Given the description of an element on the screen output the (x, y) to click on. 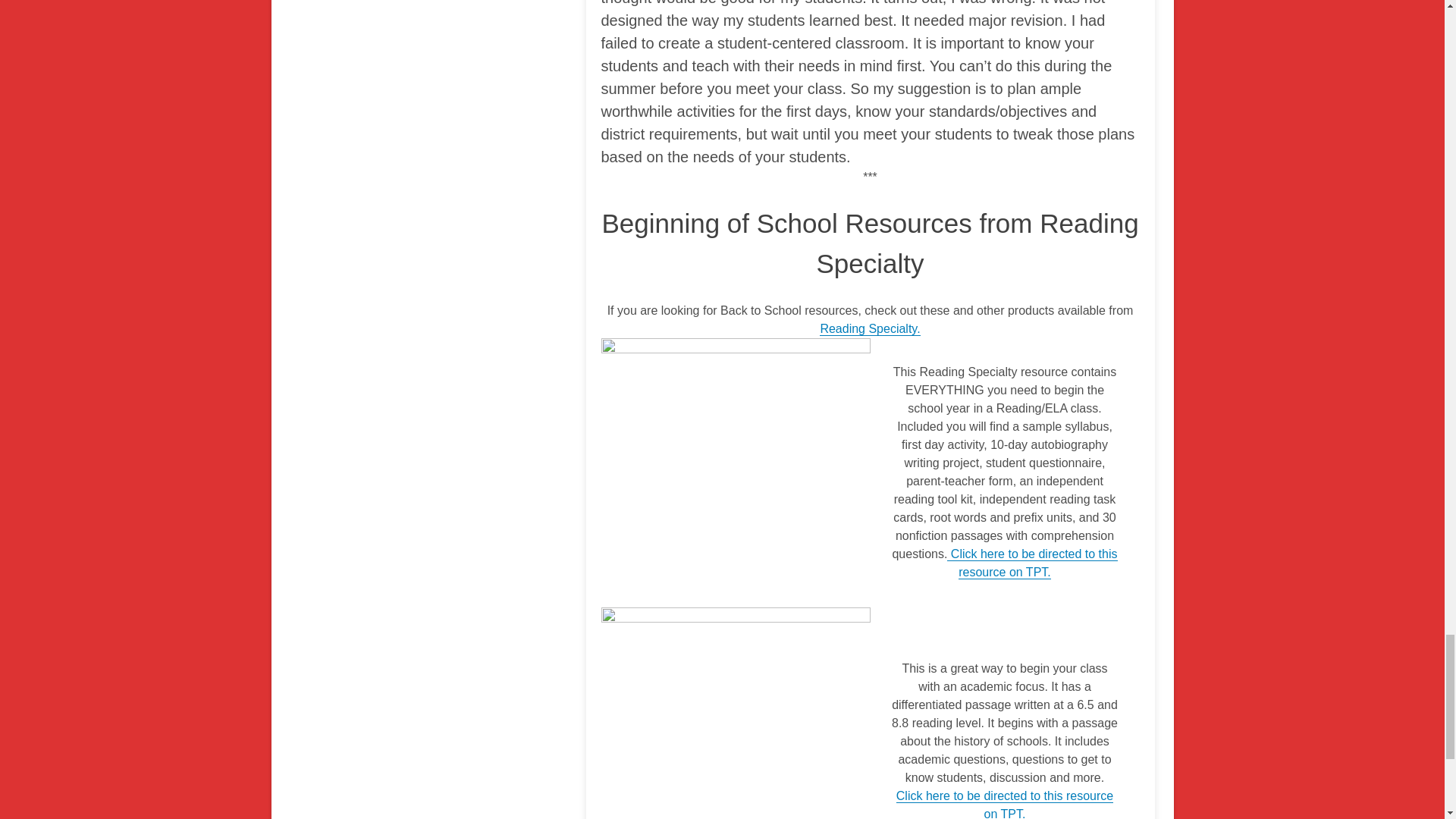
Reading Specialty. (869, 328)
Click here to be directed to this resource on TPT. (1031, 563)
Click here to be directed to this resource on TPT. (1004, 804)
